Given the description of an element on the screen output the (x, y) to click on. 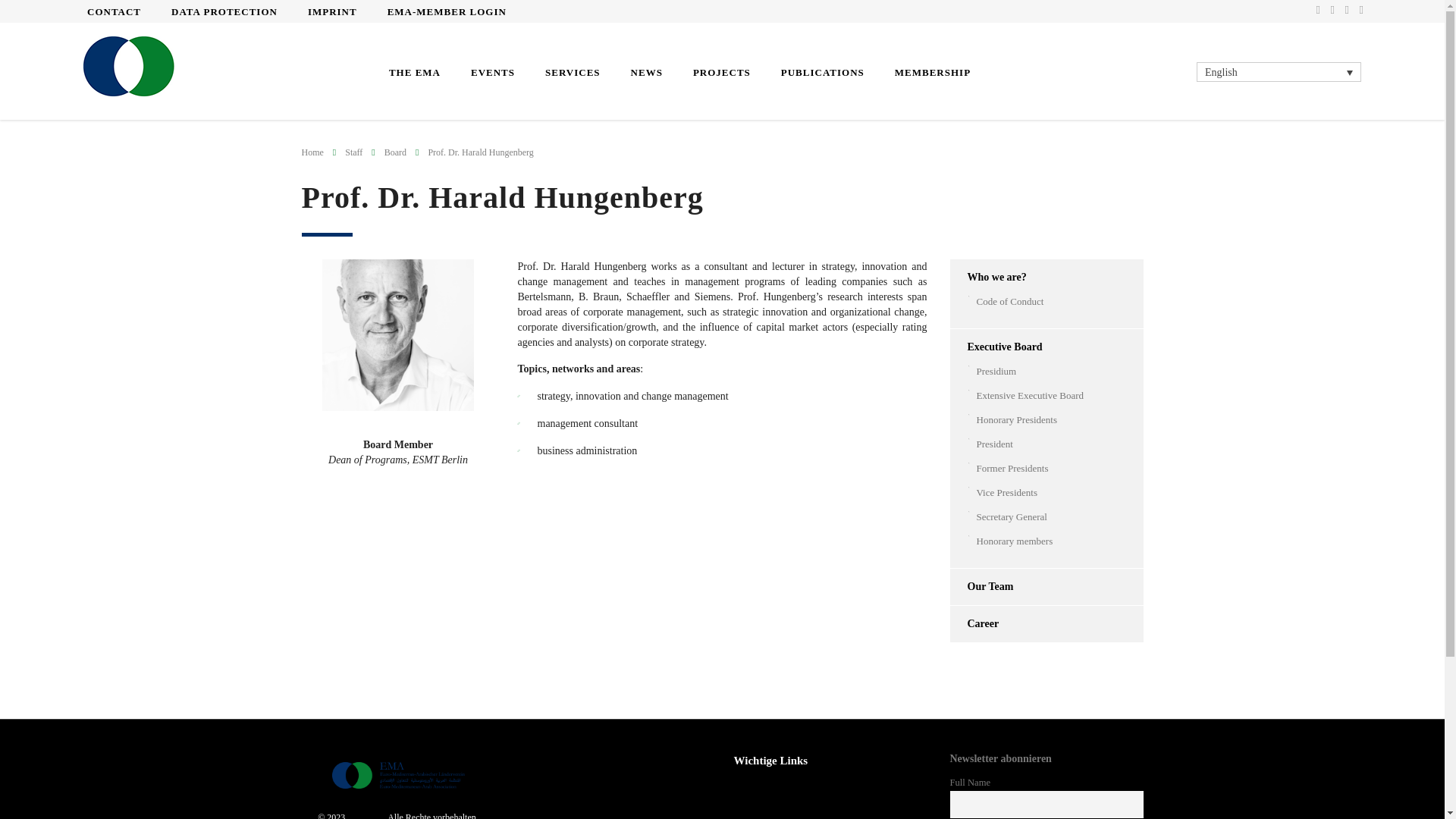
EMA-MEMBER LOGIN (446, 10)
Go to the Board Categories archives. (395, 152)
THE EMA (414, 71)
Hungenberg (397, 335)
IMPRINT (332, 10)
Go to Staff. (353, 152)
CONTACT (113, 10)
DATA PROTECTION (223, 10)
EVENTS (492, 71)
Go to EMA e. V.. (312, 152)
